Given the description of an element on the screen output the (x, y) to click on. 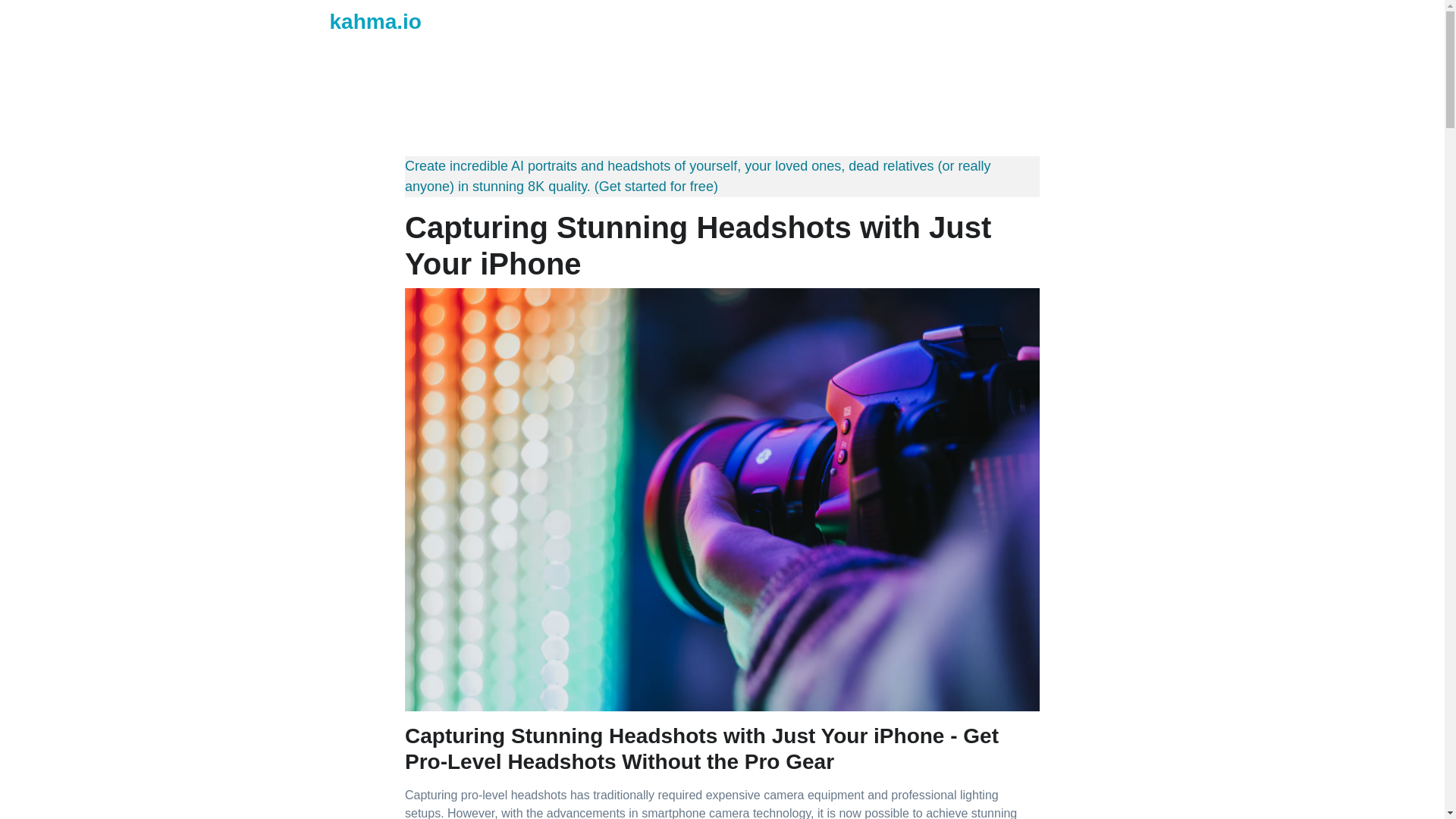
kahma.io (359, 21)
